Given the description of an element on the screen output the (x, y) to click on. 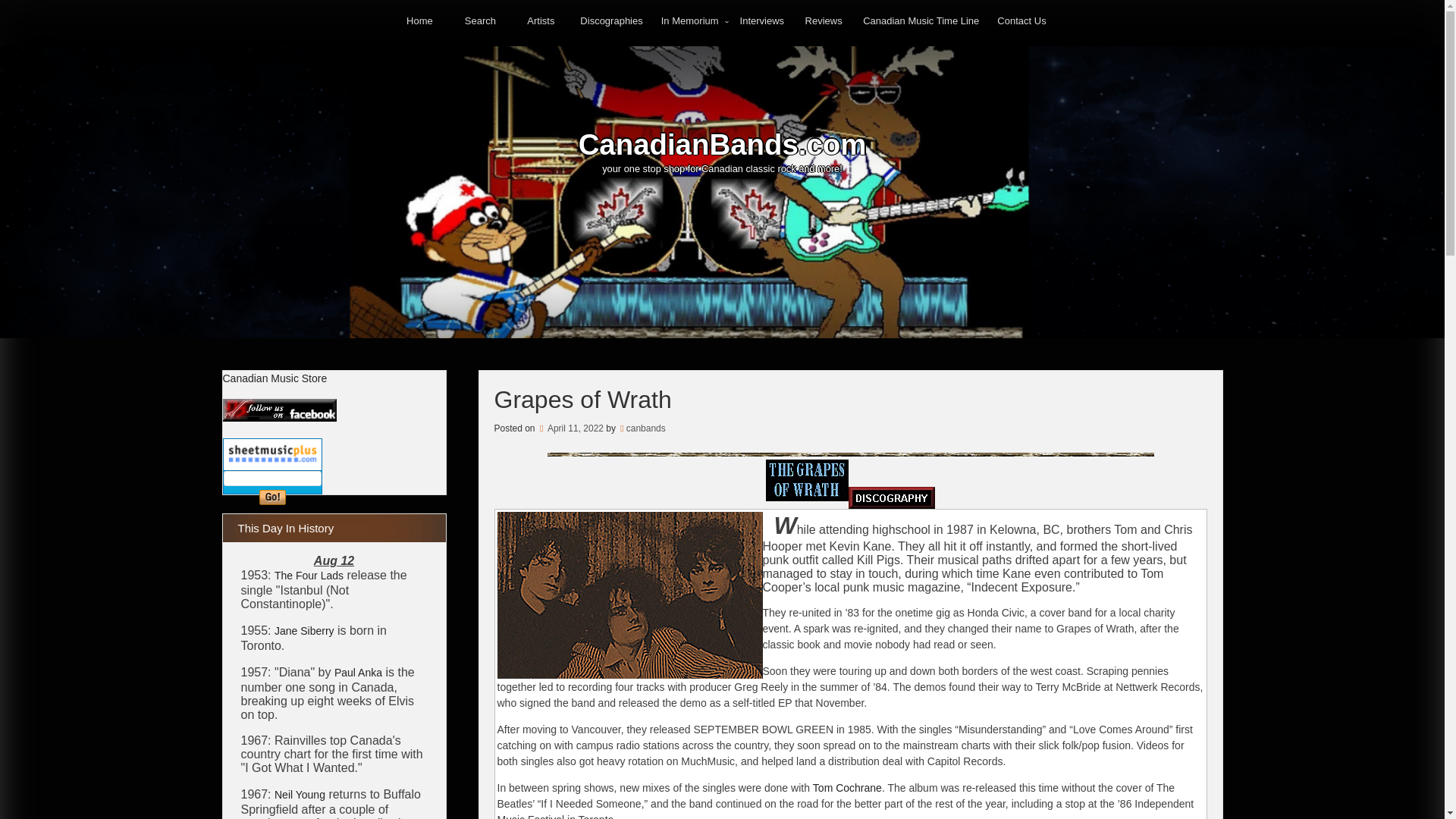
Artists (540, 20)
The Four Lads (309, 575)
Interviews (761, 20)
CanadianBands.com (722, 143)
Reviews (823, 20)
Tom Cochrane (847, 787)
Contact Us (1021, 20)
Paul Anka (357, 672)
Search (480, 20)
Neil Young (299, 794)
